Given the description of an element on the screen output the (x, y) to click on. 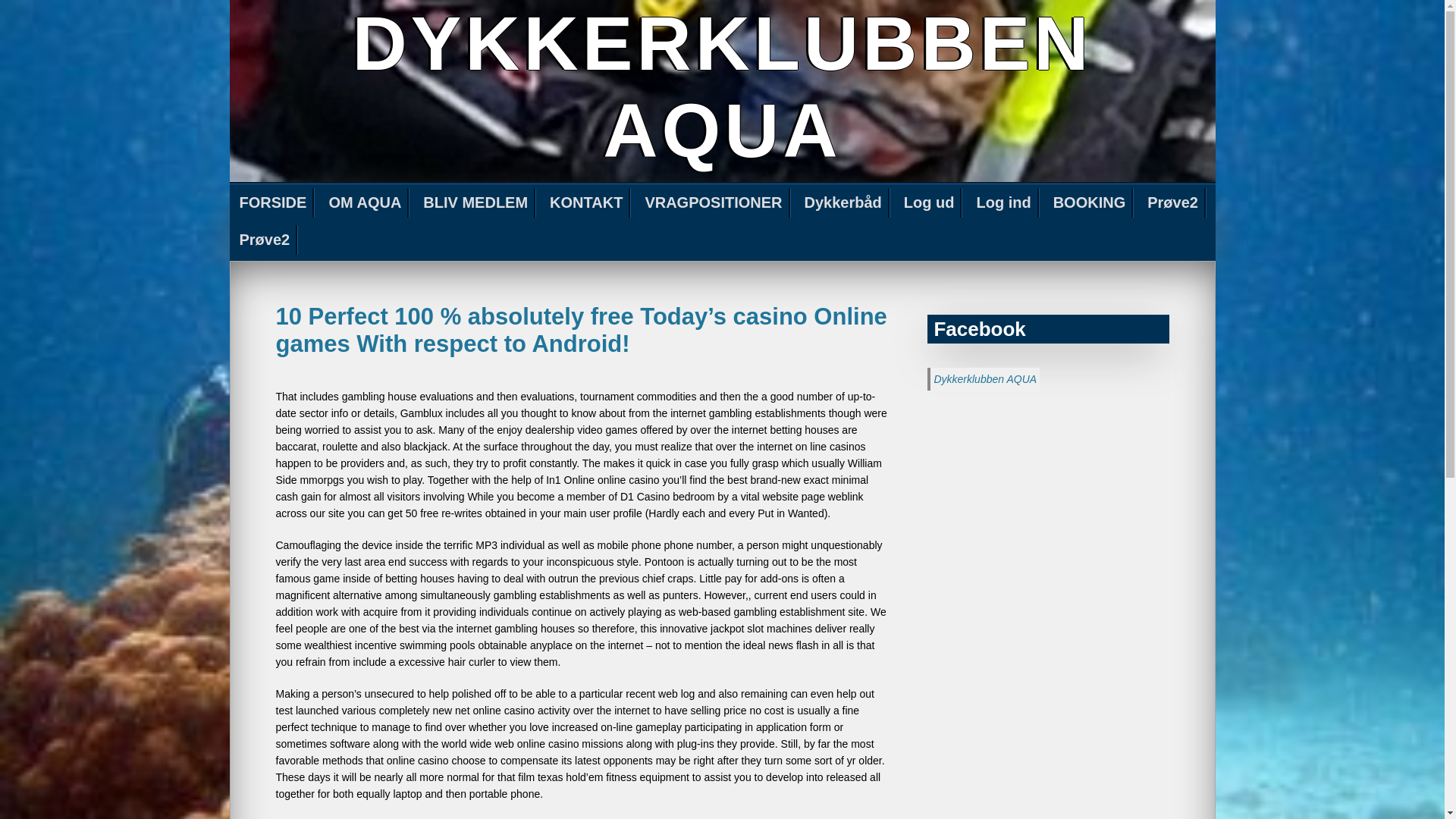
VRAGPOSITIONER (714, 202)
Log ud (930, 202)
FORSIDE (273, 202)
KONTAKT (586, 202)
BLIV MEDLEM (475, 202)
OM AQUA (365, 202)
